Given the description of an element on the screen output the (x, y) to click on. 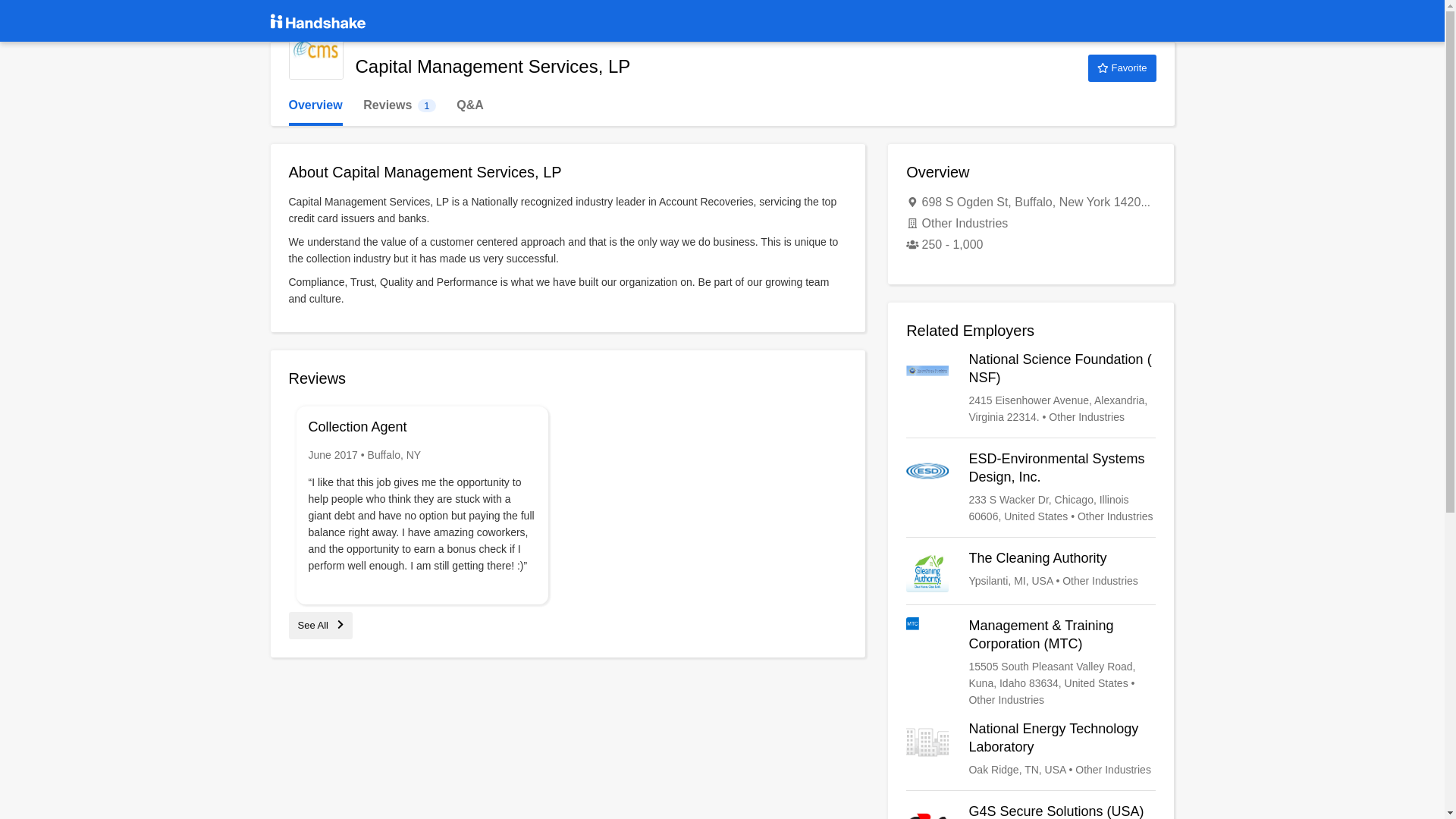
Capital Management Services, LP (315, 52)
The Cleaning Authority (1030, 570)
See All (320, 624)
National Energy Technology Laboratory (1030, 749)
Overview (315, 105)
Favorite (1121, 67)
ESD-Environmental Systems Design, Inc. (1030, 487)
